Given the description of an element on the screen output the (x, y) to click on. 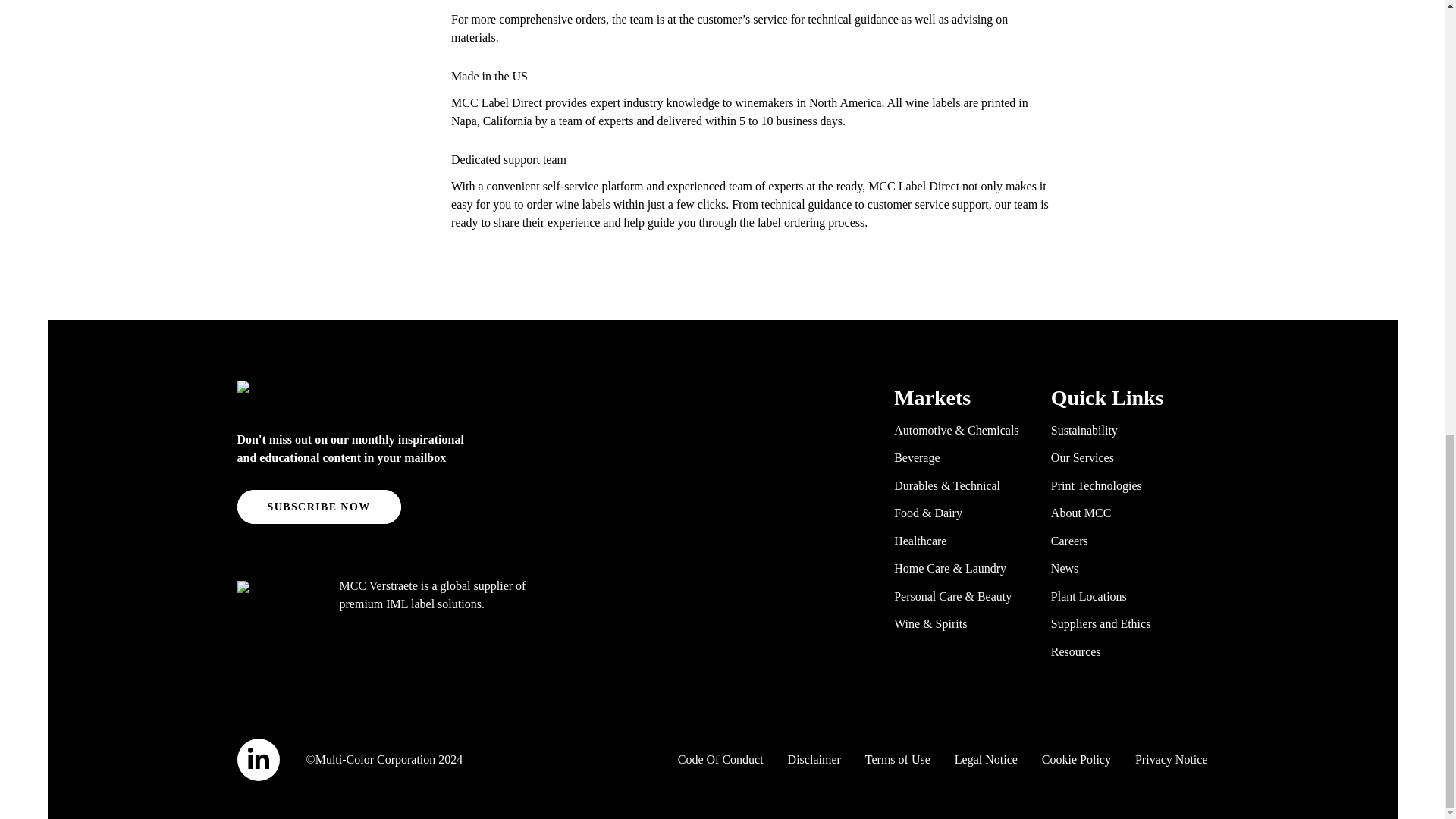
Back to Home (372, 395)
Beverage (916, 457)
Sustainability (1084, 429)
SUBSCRIBE NOW (317, 506)
Healthcare (919, 540)
Main Footer Navigation (1050, 525)
